Given the description of an element on the screen output the (x, y) to click on. 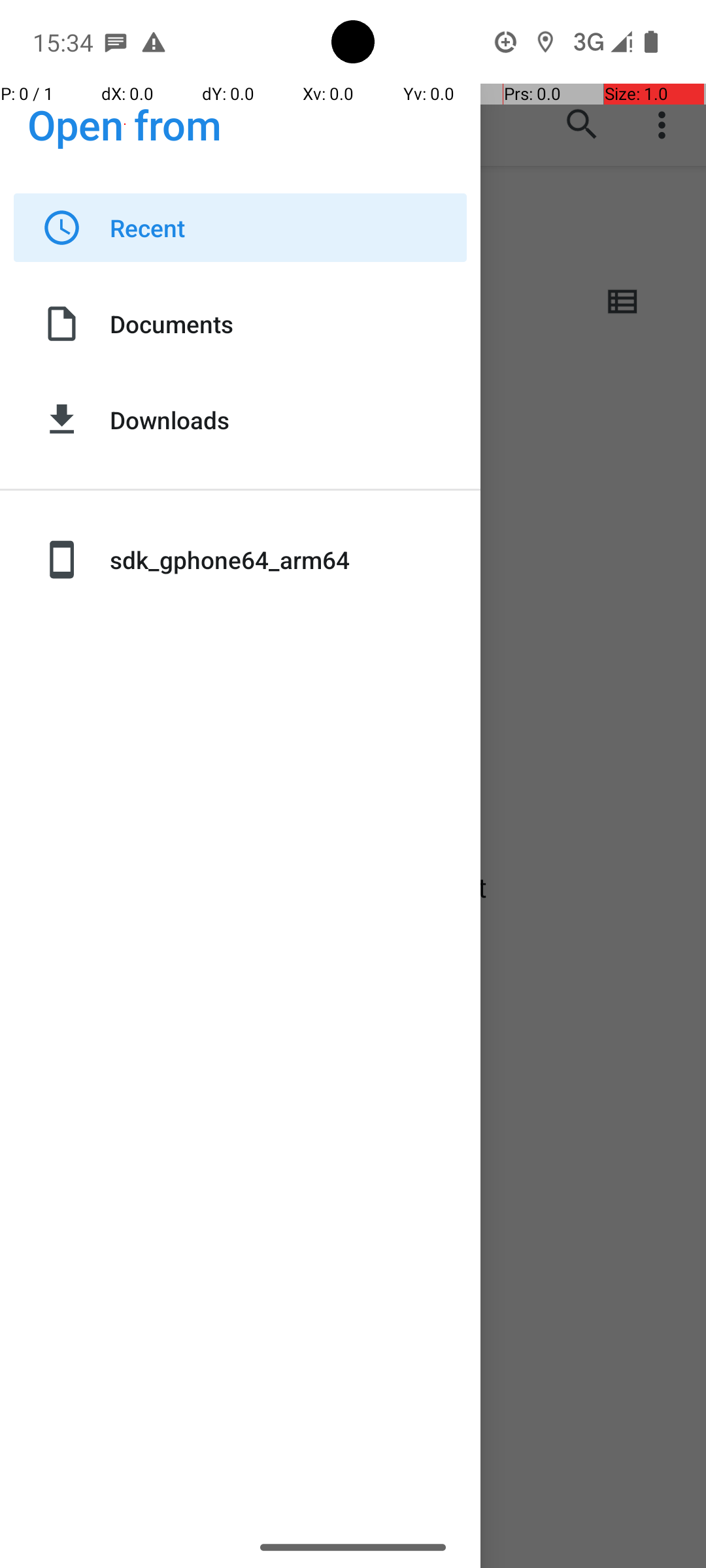
Open from Element type: android.widget.TextView (124, 124)
Recent Element type: android.widget.TextView (287, 227)
Documents Element type: android.widget.TextView (287, 323)
Downloads Element type: android.widget.TextView (287, 419)
sdk_gphone64_arm64 Element type: android.widget.TextView (287, 559)
